Given the description of an element on the screen output the (x, y) to click on. 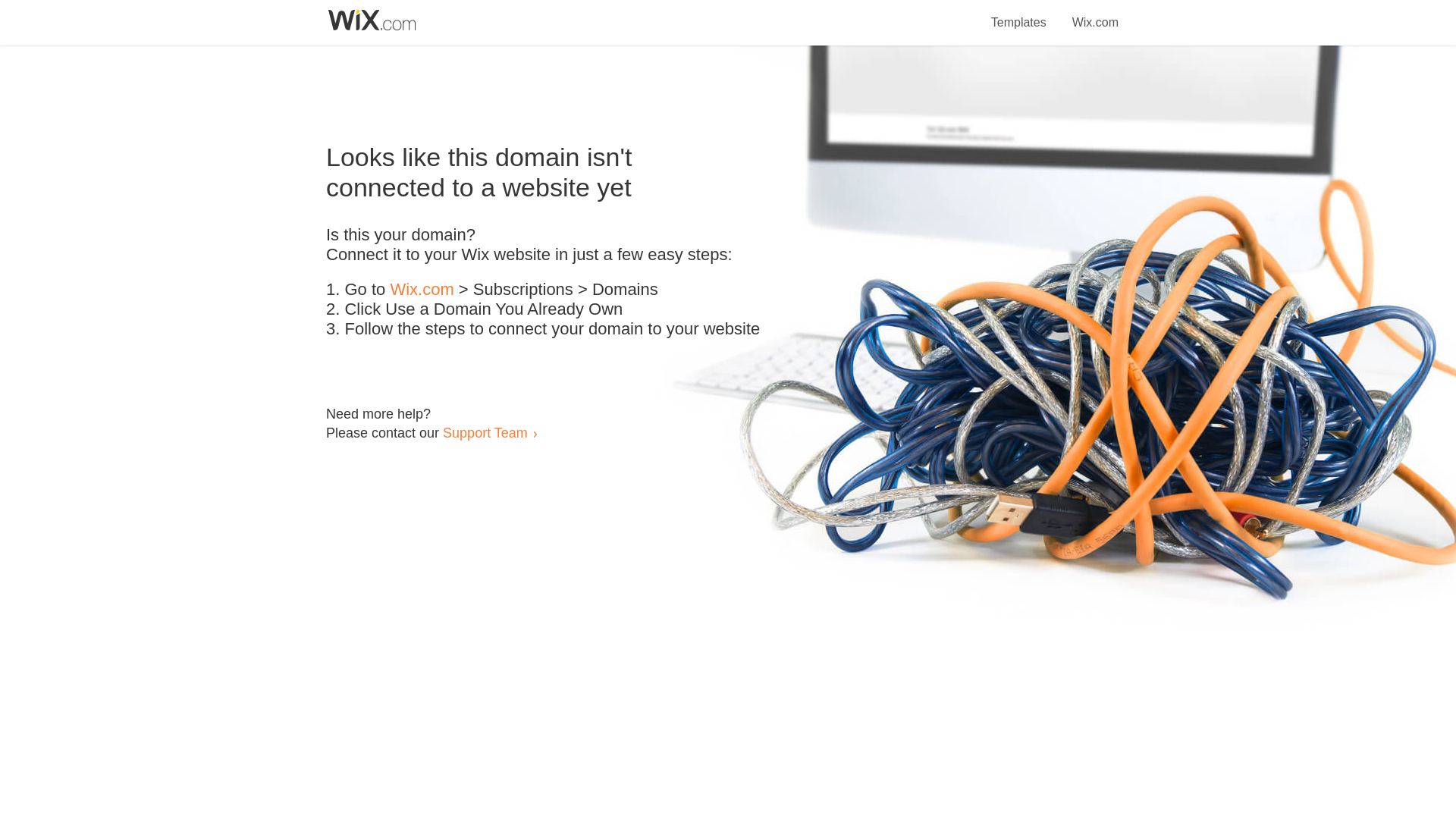
Support Team (484, 432)
Wix.com (421, 289)
Templates (1018, 14)
Wix.com (1095, 14)
